Given the description of an element on the screen output the (x, y) to click on. 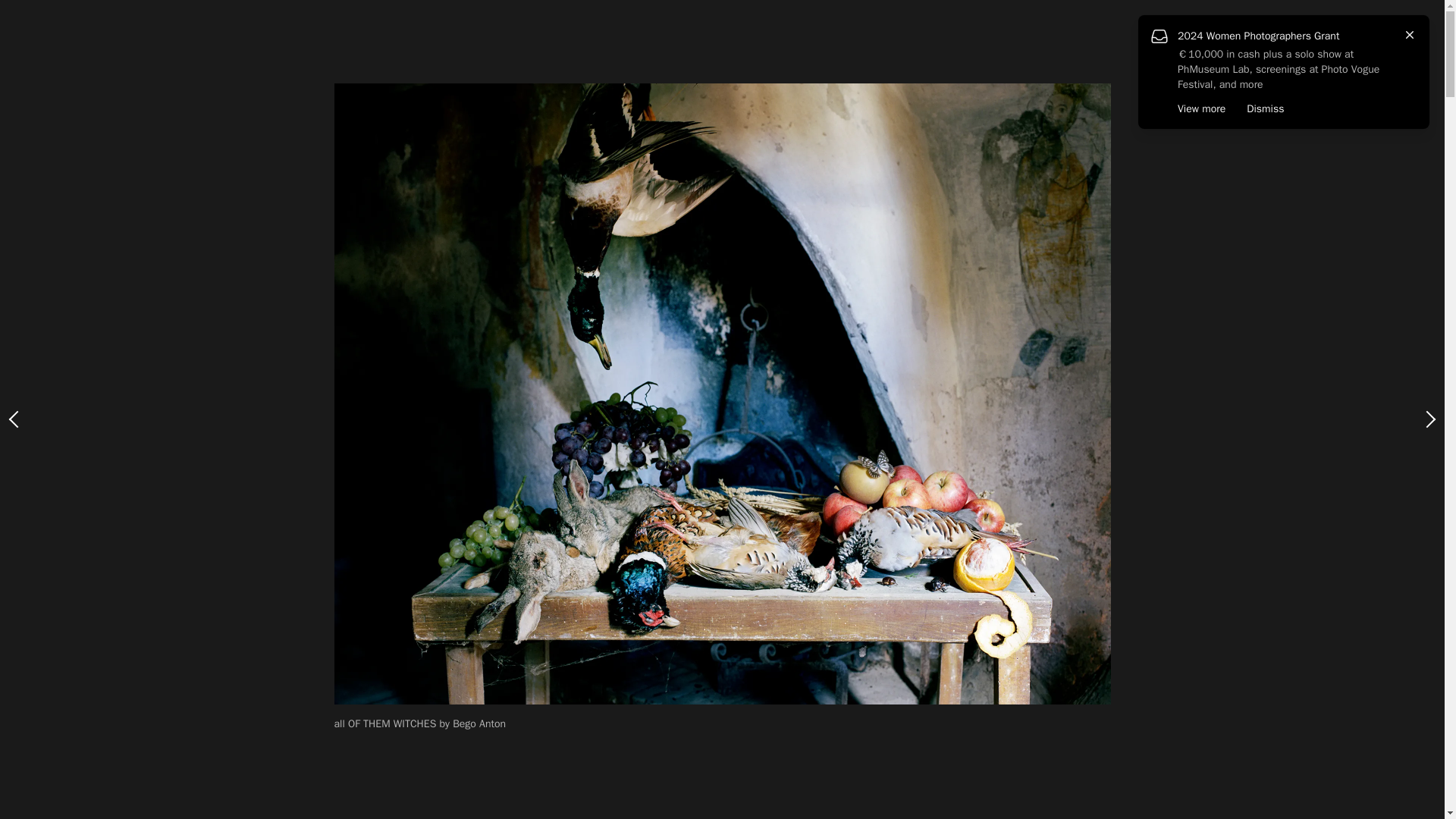
Featured (420, 64)
Bego Anton (507, 241)
Privacy Policy (42, 773)
Default view (1395, 62)
Grants (41, 108)
PhMuseum Vimeo (110, 731)
Featured (50, 84)
Fullscreen (1320, 62)
Education (55, 132)
About (36, 205)
PhMuseum YouTube (88, 731)
PhMuseum Days 2024 International Photography Festival (79, 637)
PhMuseum Twitter (65, 731)
Open main menu (17, 17)
